Given the description of an element on the screen output the (x, y) to click on. 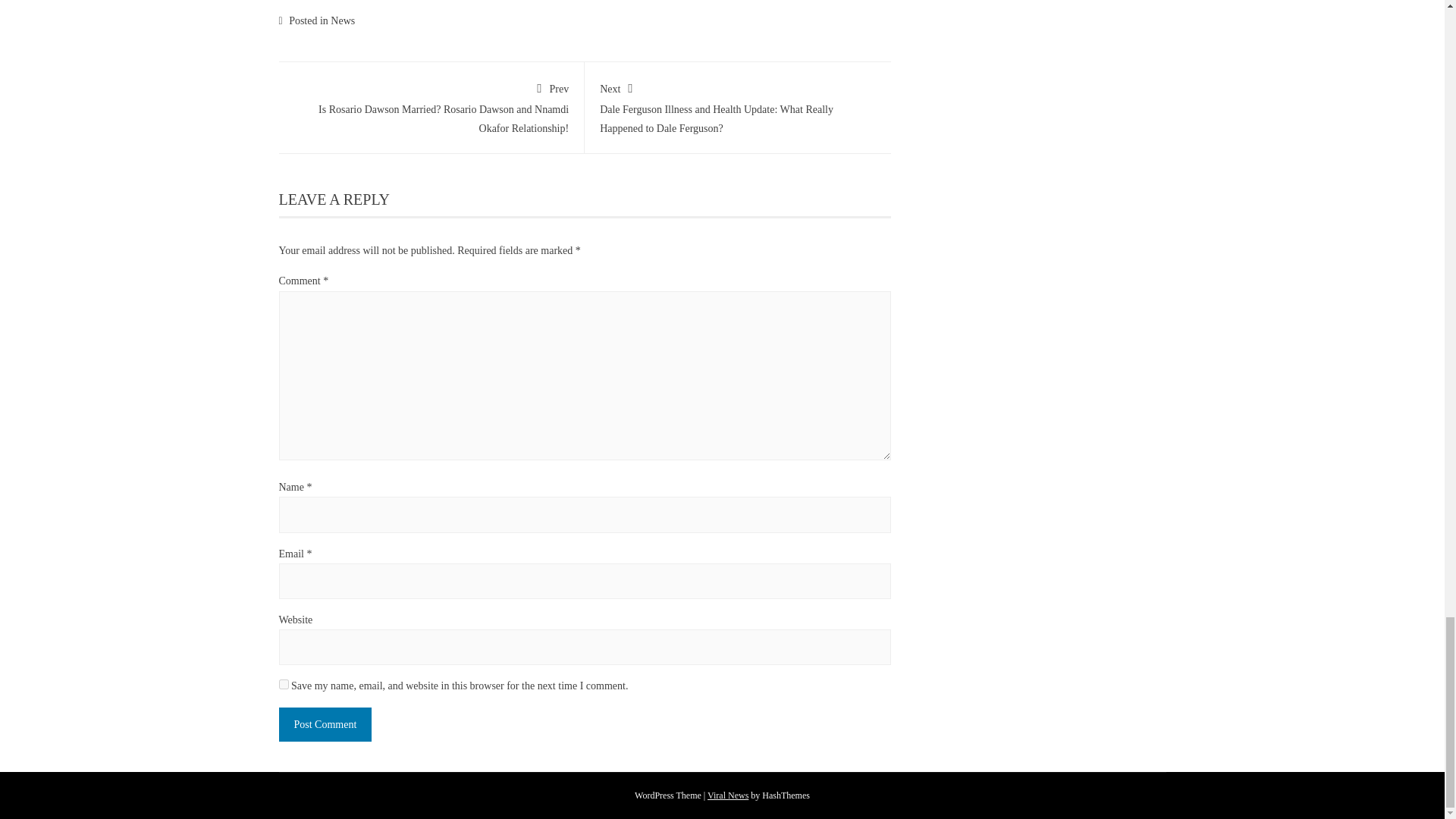
yes (283, 684)
News (342, 20)
Post Comment (325, 724)
Post Comment (325, 724)
Download Viral News (727, 795)
